Given the description of an element on the screen output the (x, y) to click on. 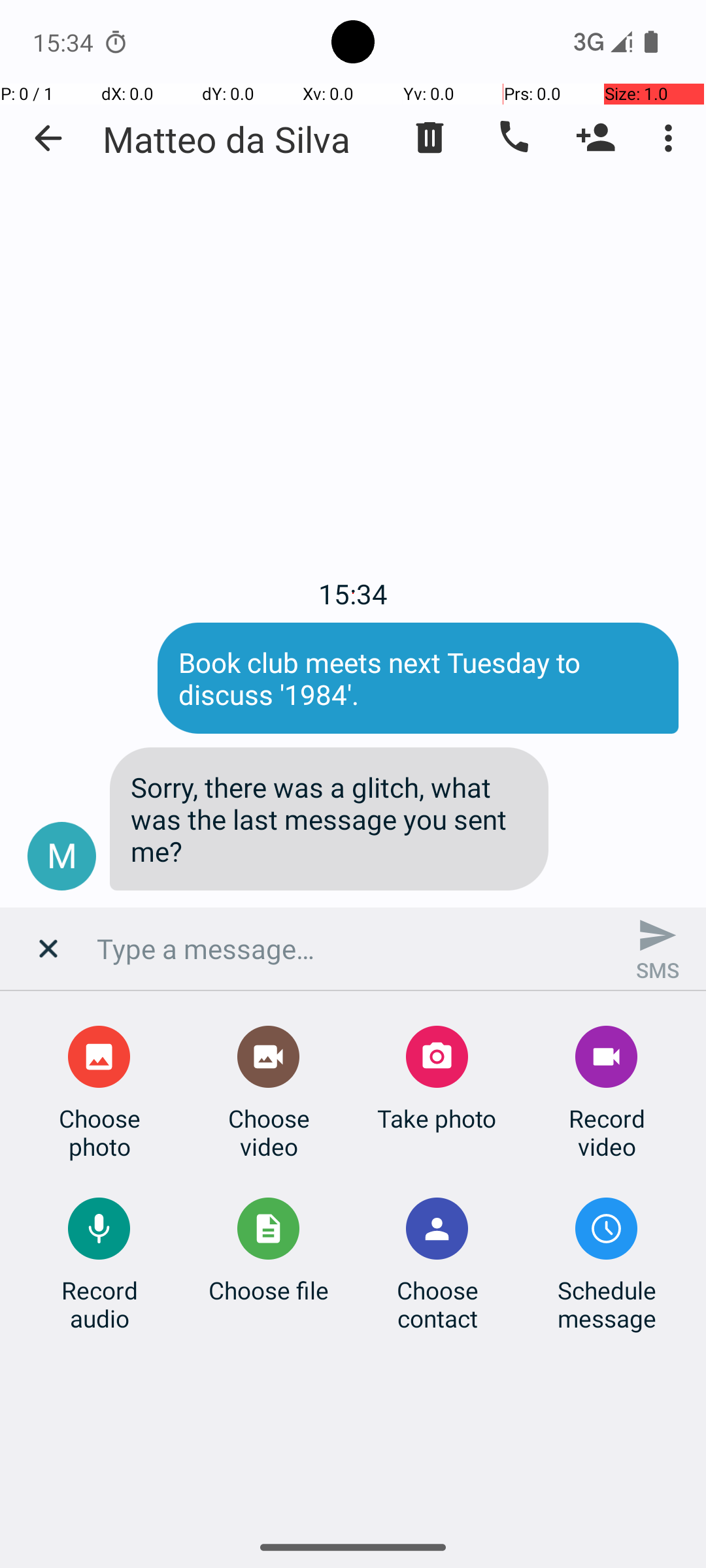
Matteo da Silva Element type: android.widget.TextView (226, 138)
